Given the description of an element on the screen output the (x, y) to click on. 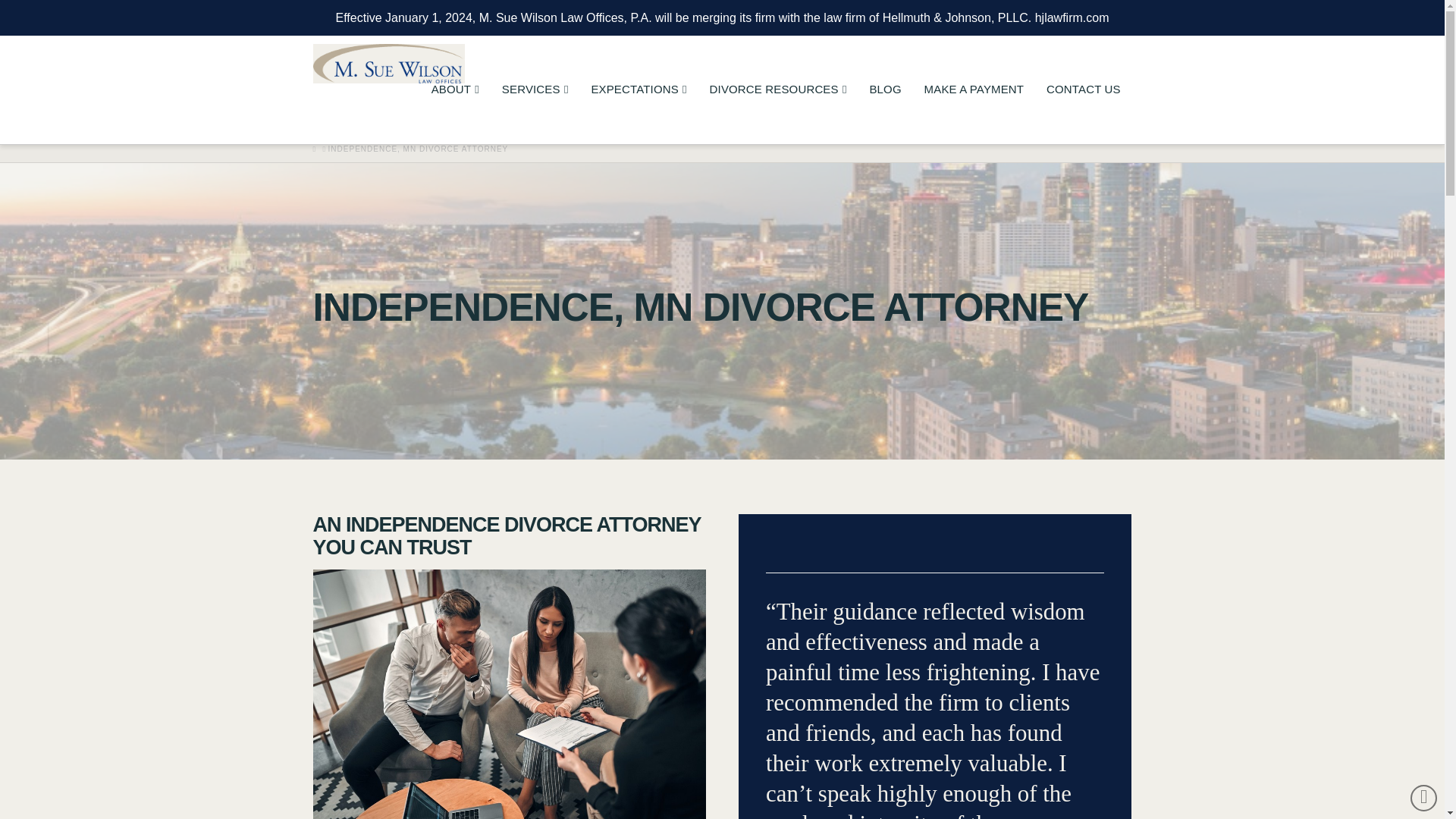
SERVICES (534, 113)
ABOUT (455, 113)
EXPECTATIONS (638, 113)
hjlawfirm.com (1072, 17)
You Are Here (418, 149)
Back to Top (1423, 797)
